Given the description of an element on the screen output the (x, y) to click on. 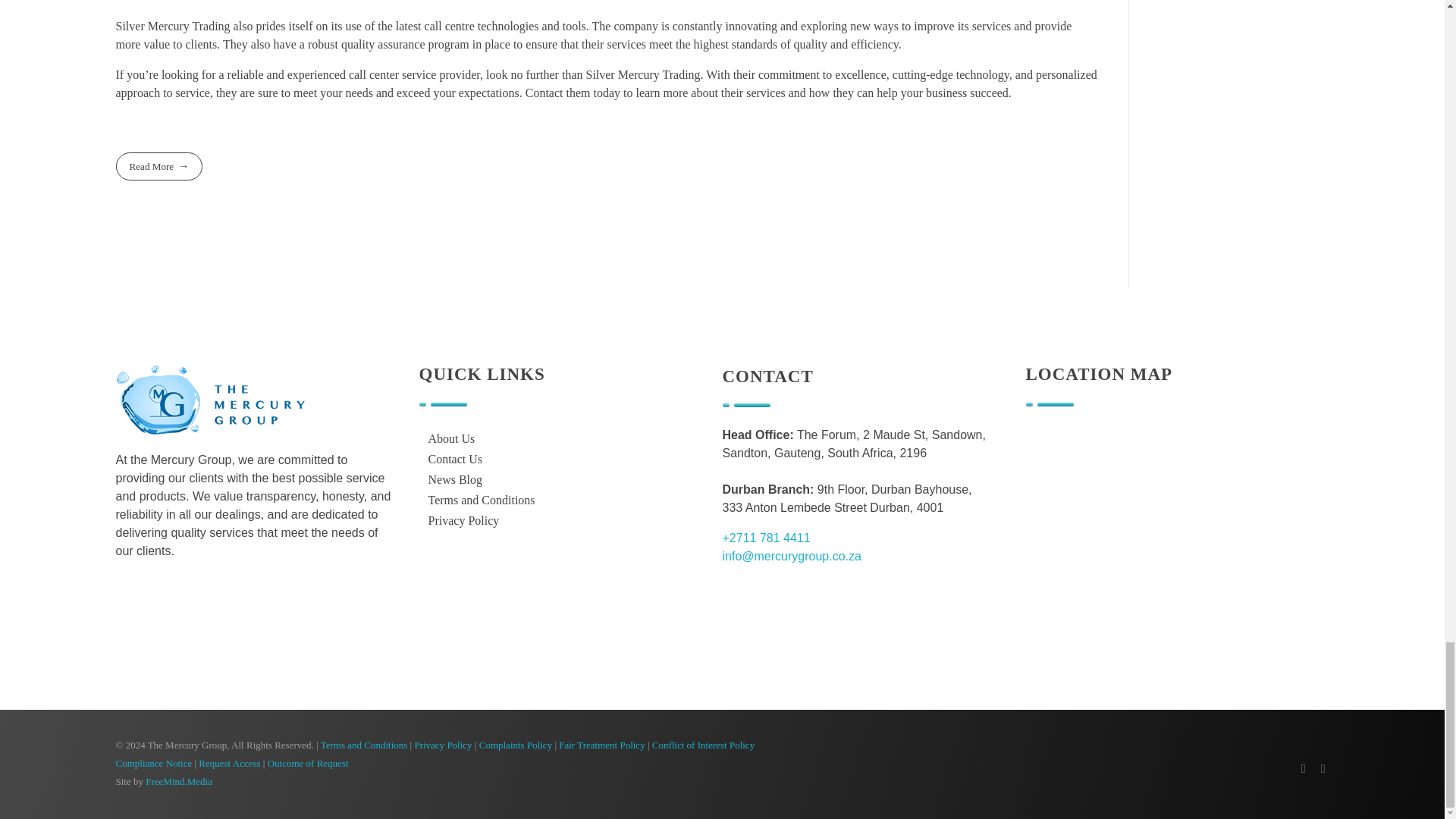
Compliance Notice (153, 763)
The Mercury Group (209, 399)
The Mercury Group (194, 444)
Request Access (229, 763)
